Given the description of an element on the screen output the (x, y) to click on. 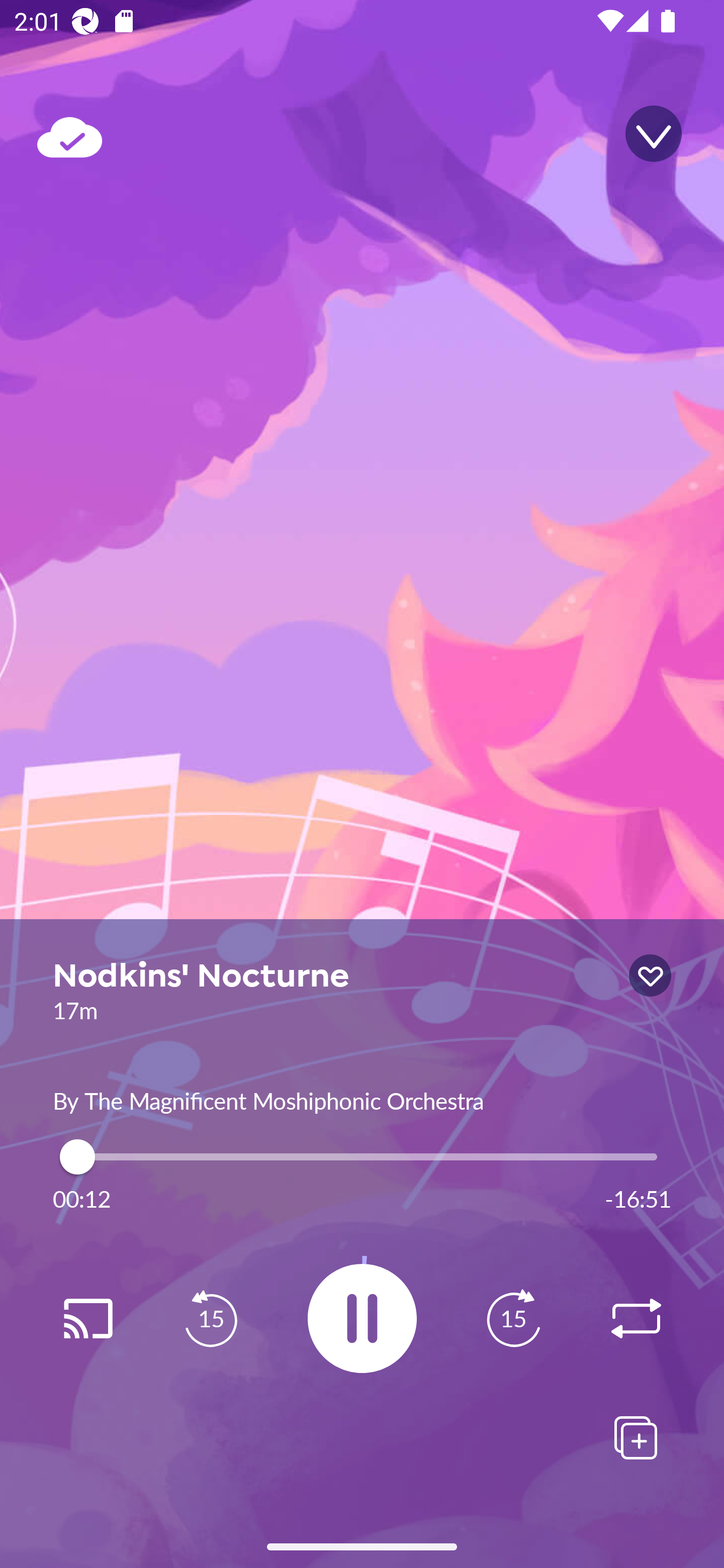
lock icon (650, 974)
By The Magnificent Moshiphonic Orchestra (361, 1098)
0.011976562 Pause (361, 1317)
Replay (87, 1318)
Replay 15 (210, 1318)
Replay 15 (513, 1318)
Replay (635, 1318)
Add To Playlists (635, 1437)
